Given the description of an element on the screen output the (x, y) to click on. 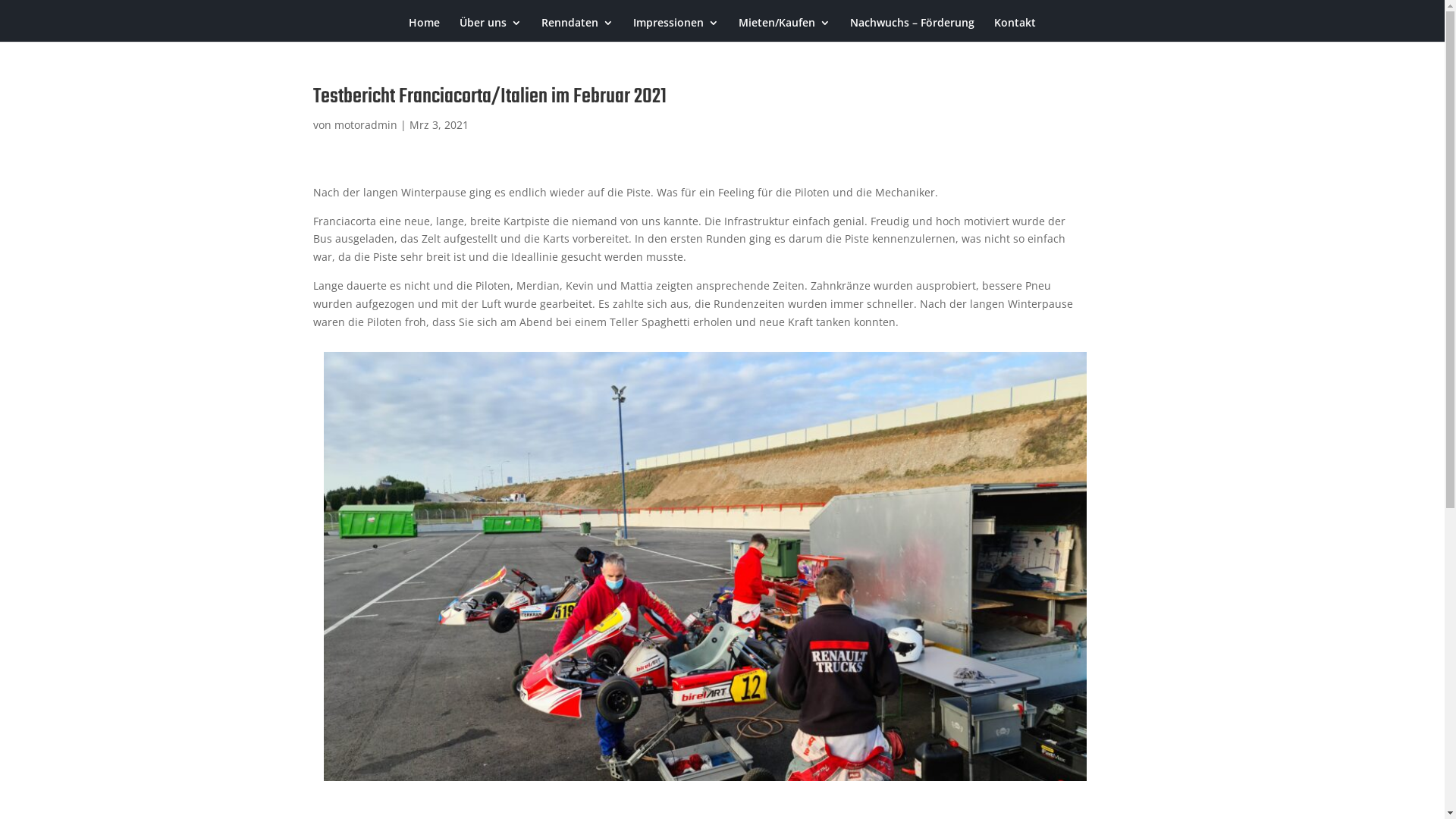
Renndaten Element type: text (577, 29)
Home Element type: text (423, 29)
Impressionen Element type: text (675, 29)
Kontakt Element type: text (1014, 29)
Mieten/Kaufen Element type: text (784, 29)
motoradmin Element type: text (364, 124)
